Given the description of an element on the screen output the (x, y) to click on. 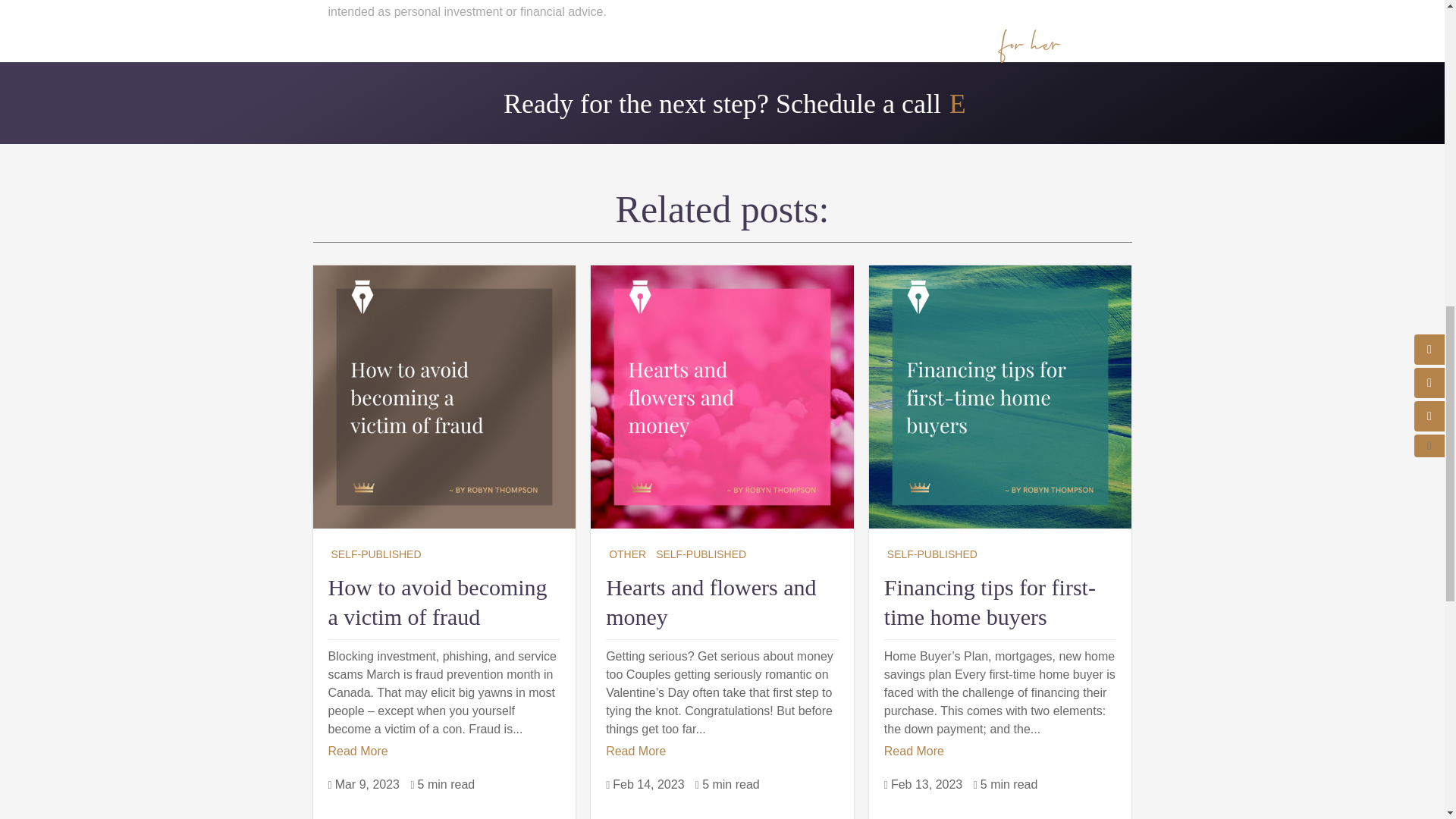
Read More (635, 751)
SELF-PUBLISHED (931, 554)
Read More (357, 751)
Hearts and flowers and money (710, 601)
How to avoid becoming a victim of fraud (437, 601)
OTHER (627, 554)
SELF-PUBLISHED (375, 554)
Ready for the next step? Schedule a call (721, 104)
Financing tips for first-time home buyers (989, 601)
SELF-PUBLISHED (700, 554)
